Given the description of an element on the screen output the (x, y) to click on. 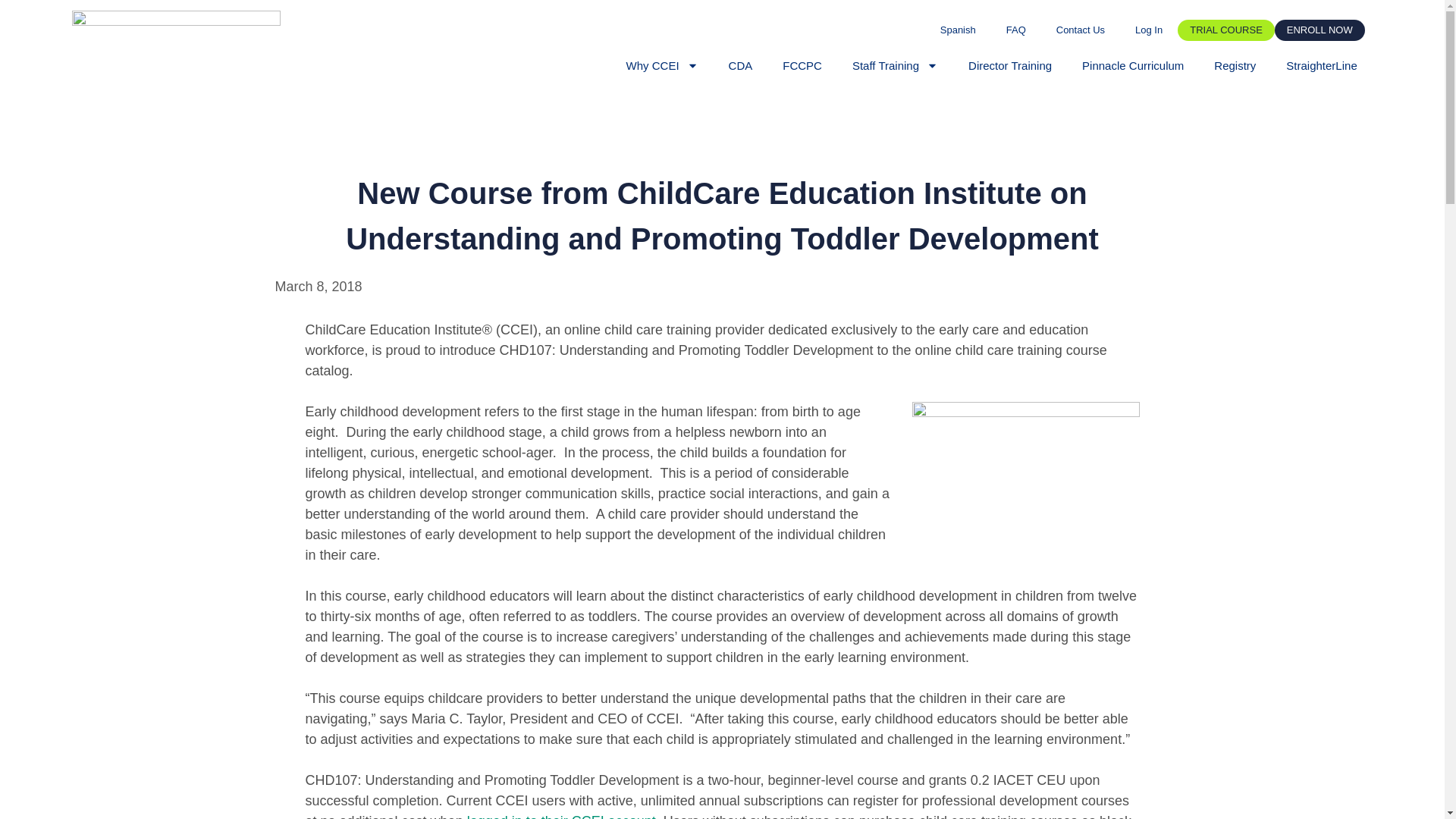
StraighterLine (1321, 65)
TRIAL COURSE (1226, 29)
Registry (1234, 65)
Staff Training (895, 65)
Log In (1148, 30)
Contact Us (1080, 30)
Director Training (1010, 65)
Pinnacle Curriculum (1132, 65)
FCCPC (802, 65)
CDA (740, 65)
ENROLL NOW (1320, 29)
logged in to their CCEI account (561, 816)
Spanish (957, 30)
Why CCEI (662, 65)
FAQ (1016, 30)
